Given the description of an element on the screen output the (x, y) to click on. 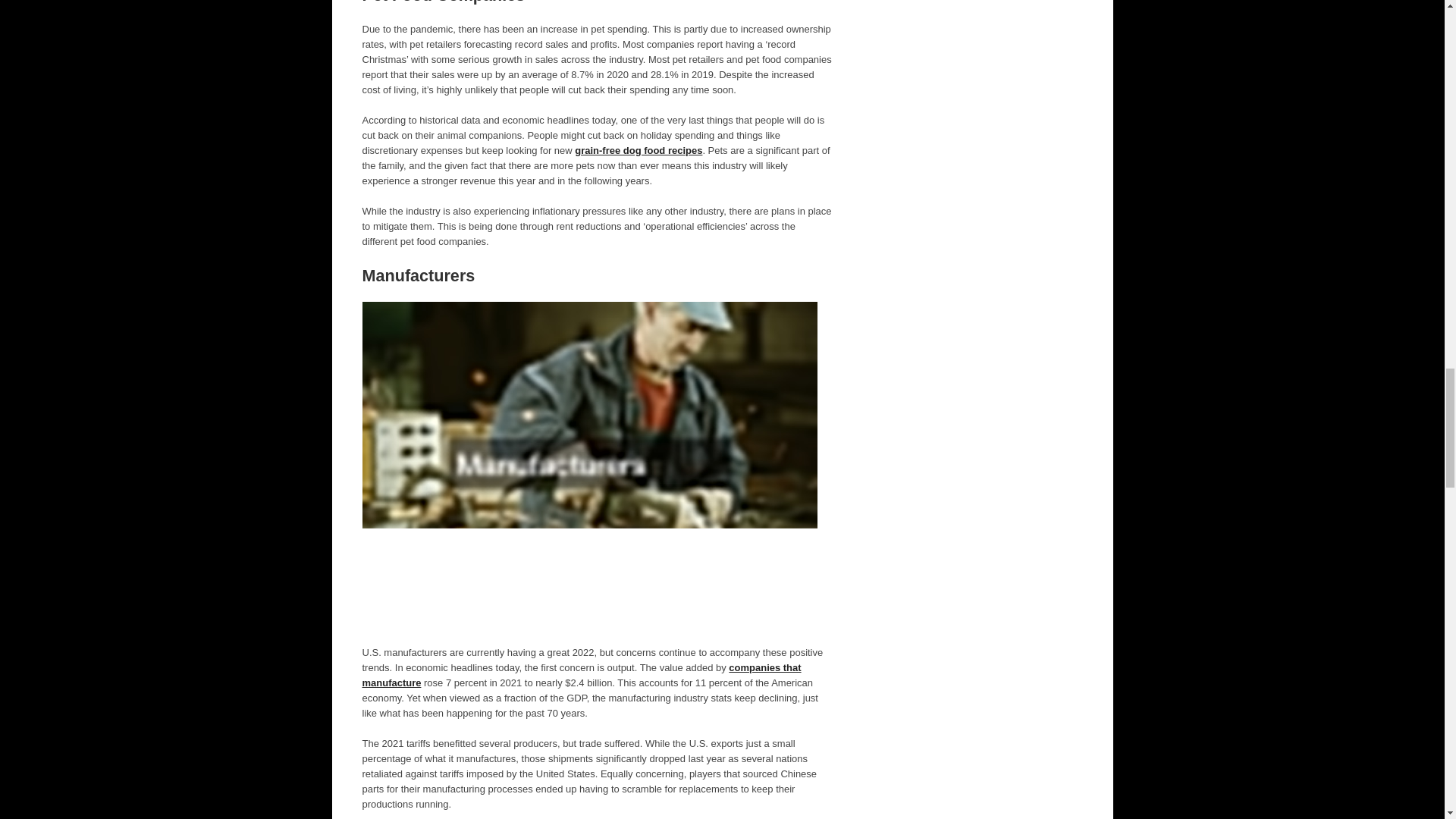
companies that manufacture (582, 674)
grain-free dog food recipes (638, 150)
